Given the description of an element on the screen output the (x, y) to click on. 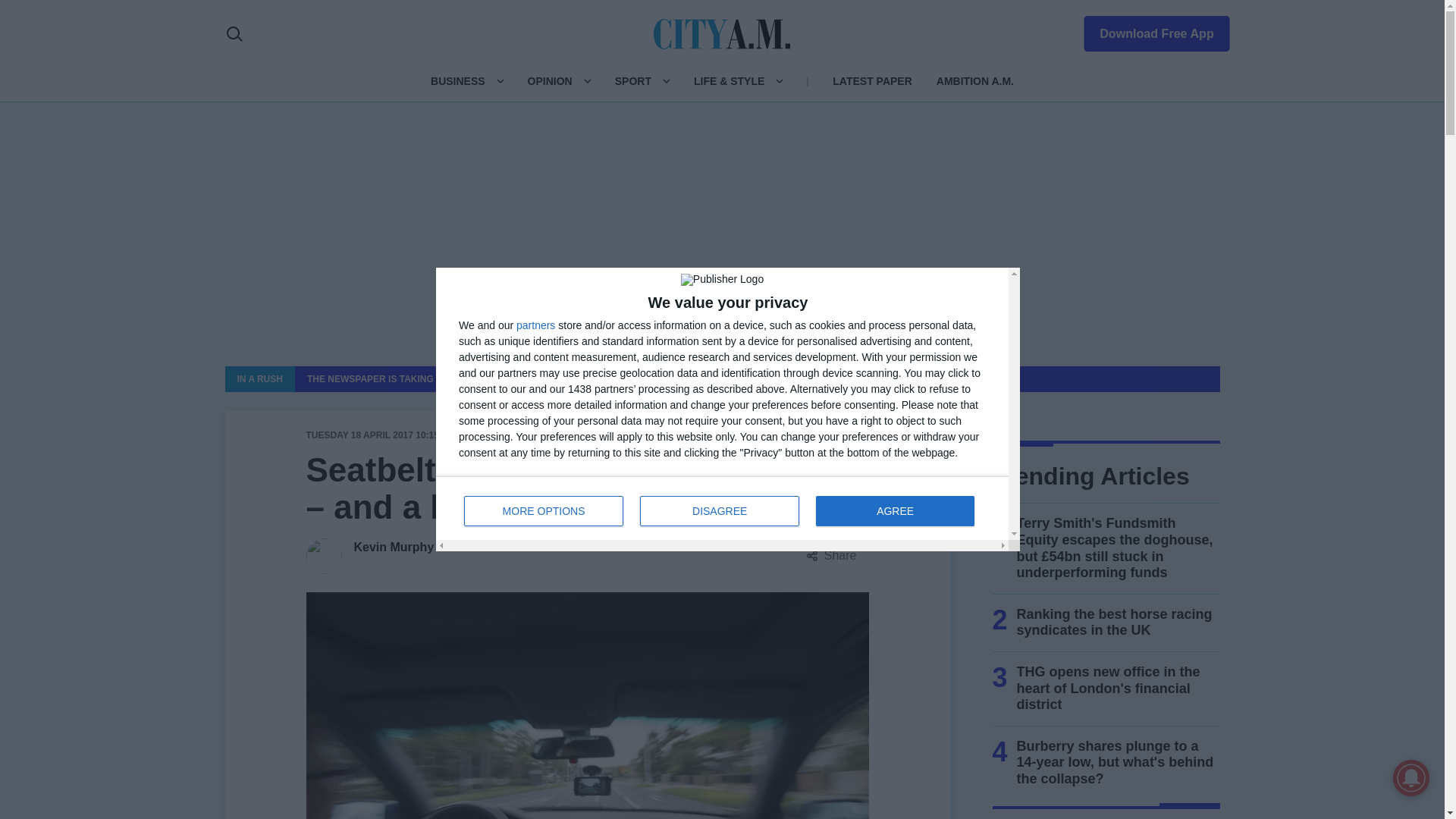
AGREE (894, 511)
Download Free App (1146, 30)
partners (535, 325)
OPINION (549, 80)
MORE OPTIONS (543, 511)
BUSINESS (457, 80)
CityAM (721, 33)
DISAGREE (719, 511)
SPORT (722, 507)
